Given the description of an element on the screen output the (x, y) to click on. 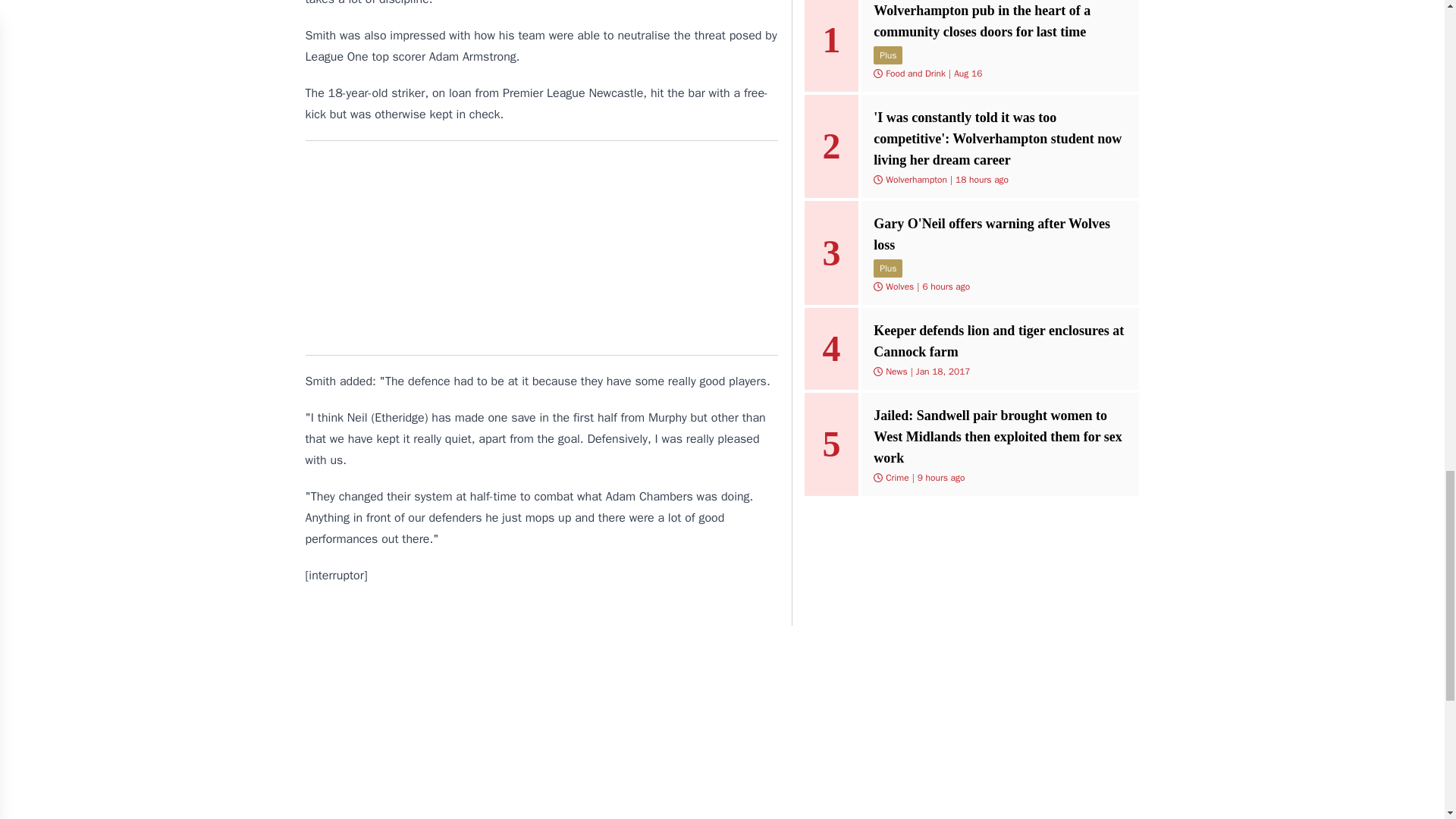
Wolves (899, 286)
Food and Drink (914, 73)
News (896, 371)
Wolverhampton (916, 179)
Crime (896, 477)
